Given the description of an element on the screen output the (x, y) to click on. 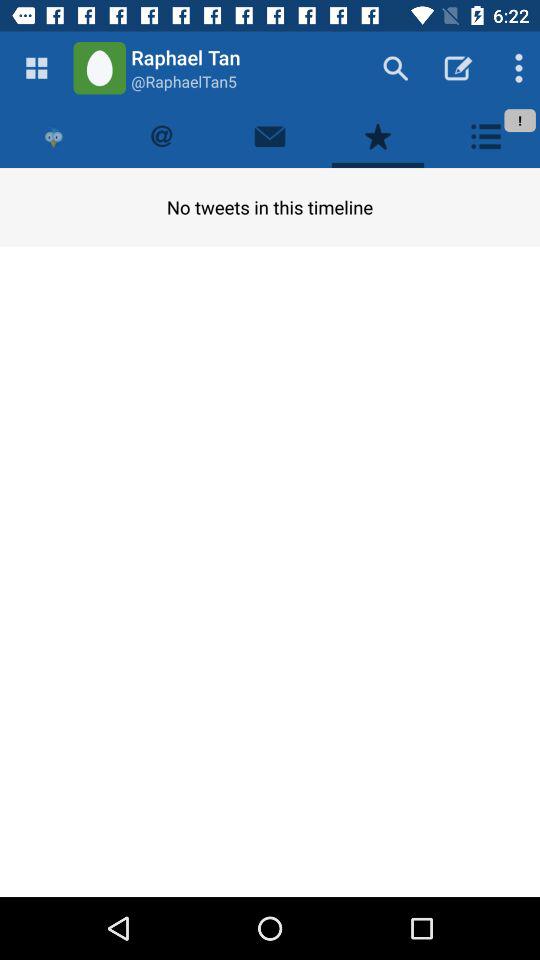
open the icon below @raphaeltan5 item (270, 136)
